Given the description of an element on the screen output the (x, y) to click on. 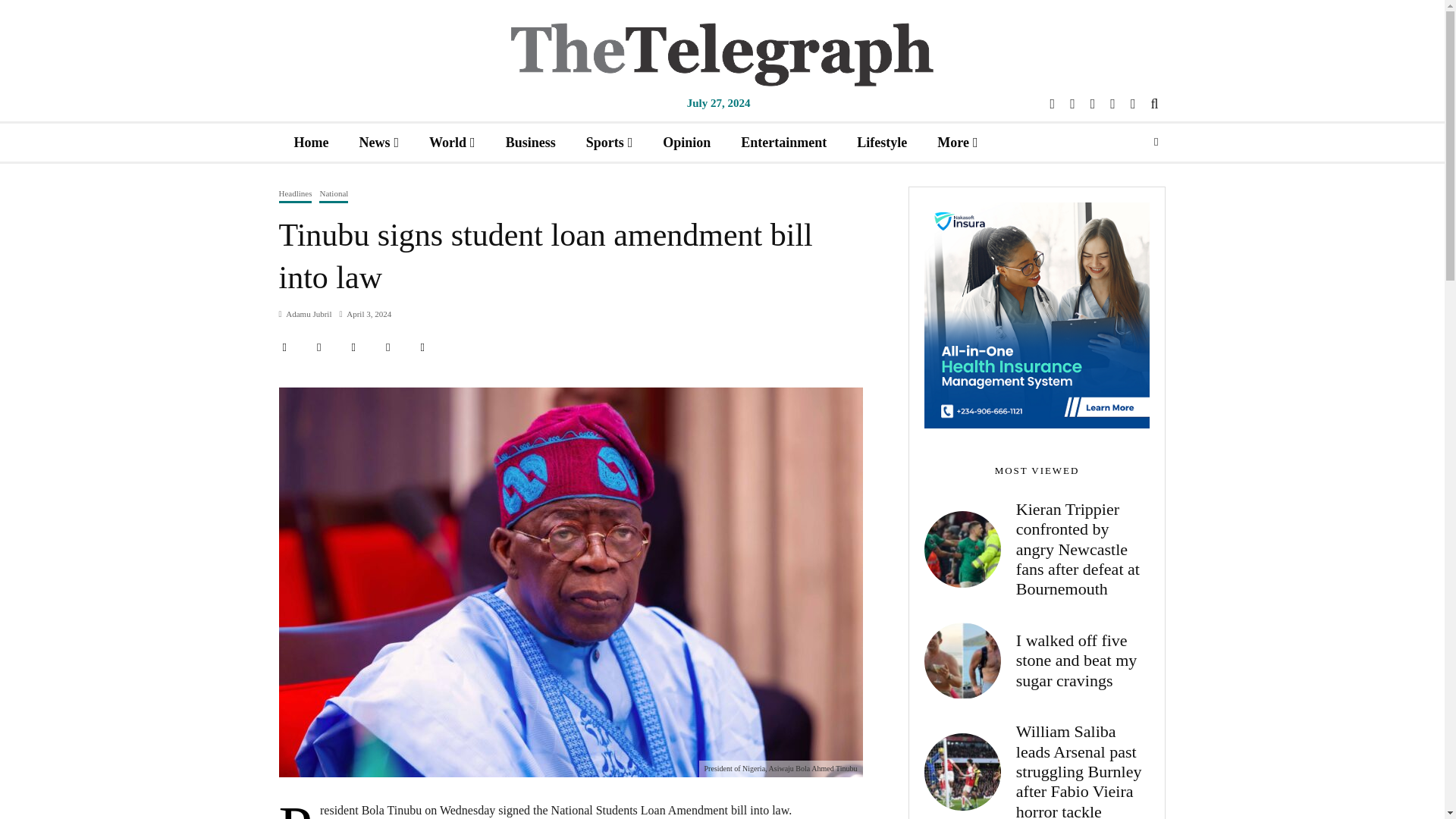
News (378, 141)
Business (530, 141)
World (451, 141)
Entertainment (783, 141)
Sports (608, 141)
Lifestyle (881, 141)
Home (311, 141)
Opinion (686, 141)
More (956, 141)
